Given the description of an element on the screen output the (x, y) to click on. 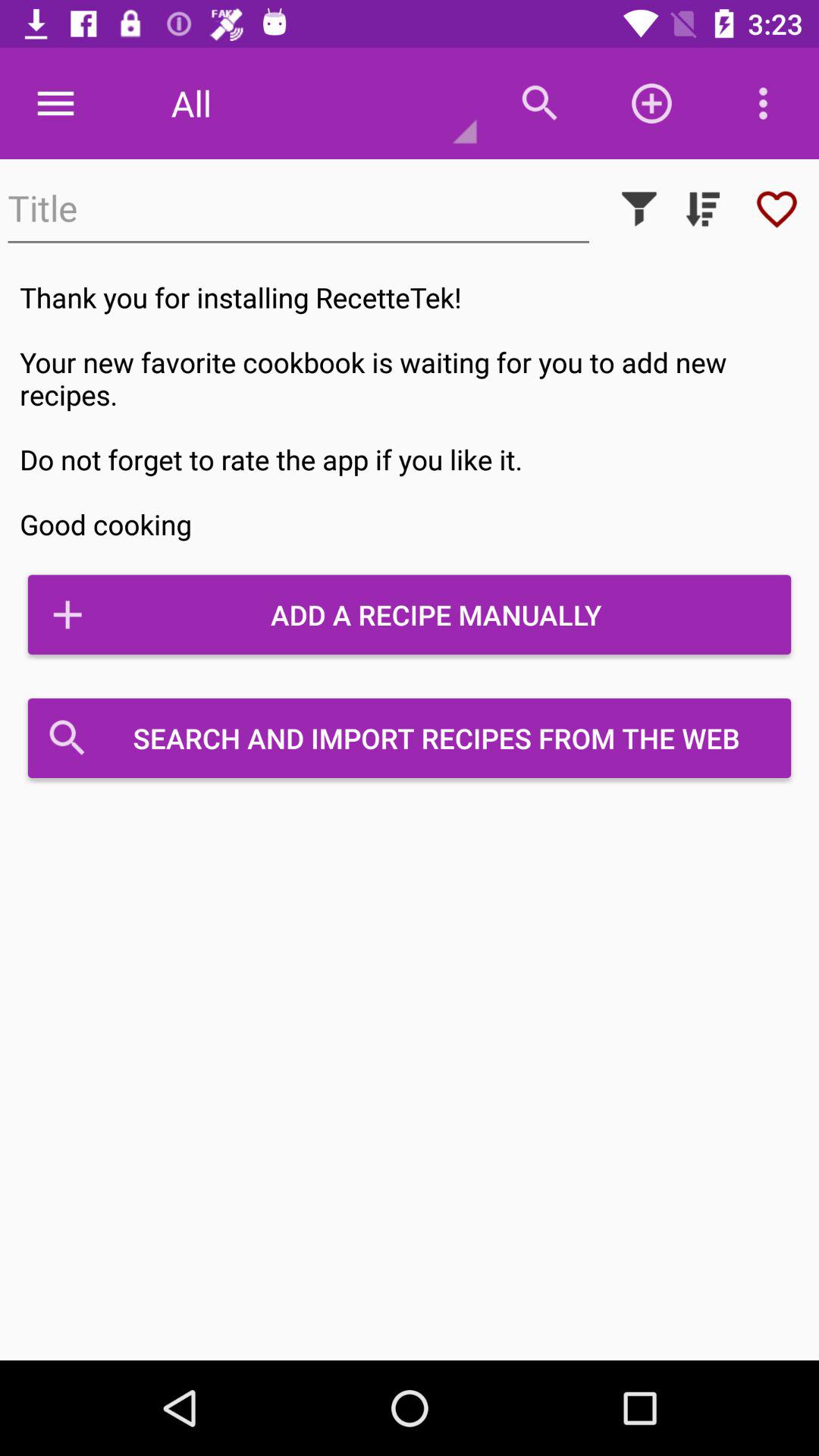
turn off search and import icon (409, 737)
